Given the description of an element on the screen output the (x, y) to click on. 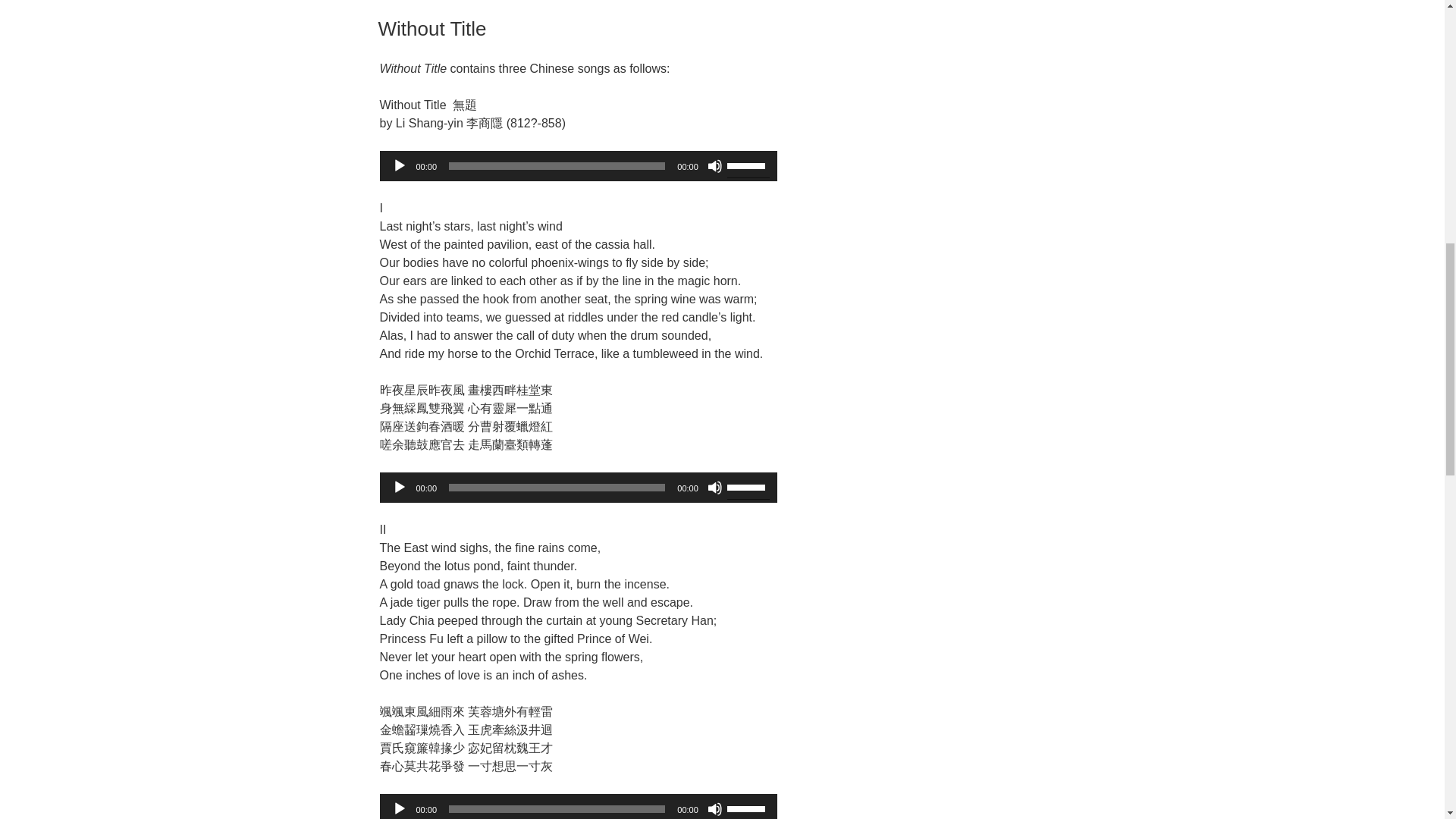
Mute (714, 165)
Without Title (431, 28)
Mute (714, 487)
Play (398, 808)
Play (398, 165)
Play (398, 487)
Mute (714, 808)
